Given the description of an element on the screen output the (x, y) to click on. 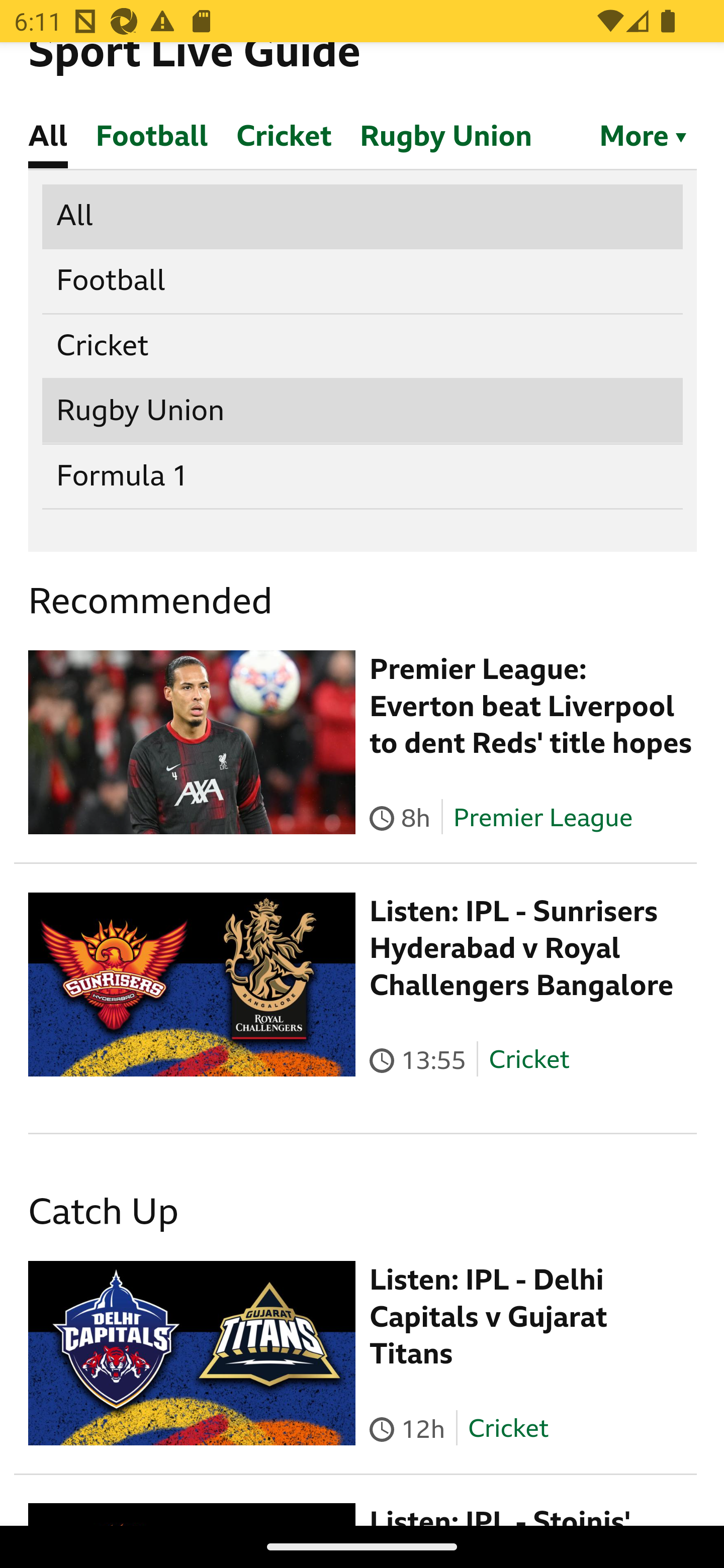
All (362, 216)
Football (362, 282)
Cricket (362, 346)
Rugby Union (362, 412)
Formula 1 (362, 476)
Premier League (542, 818)
Cricket (528, 1060)
Listen: IPL - Delhi Capitals v Gujarat Titans (488, 1317)
Cricket (507, 1429)
